Given the description of an element on the screen output the (x, y) to click on. 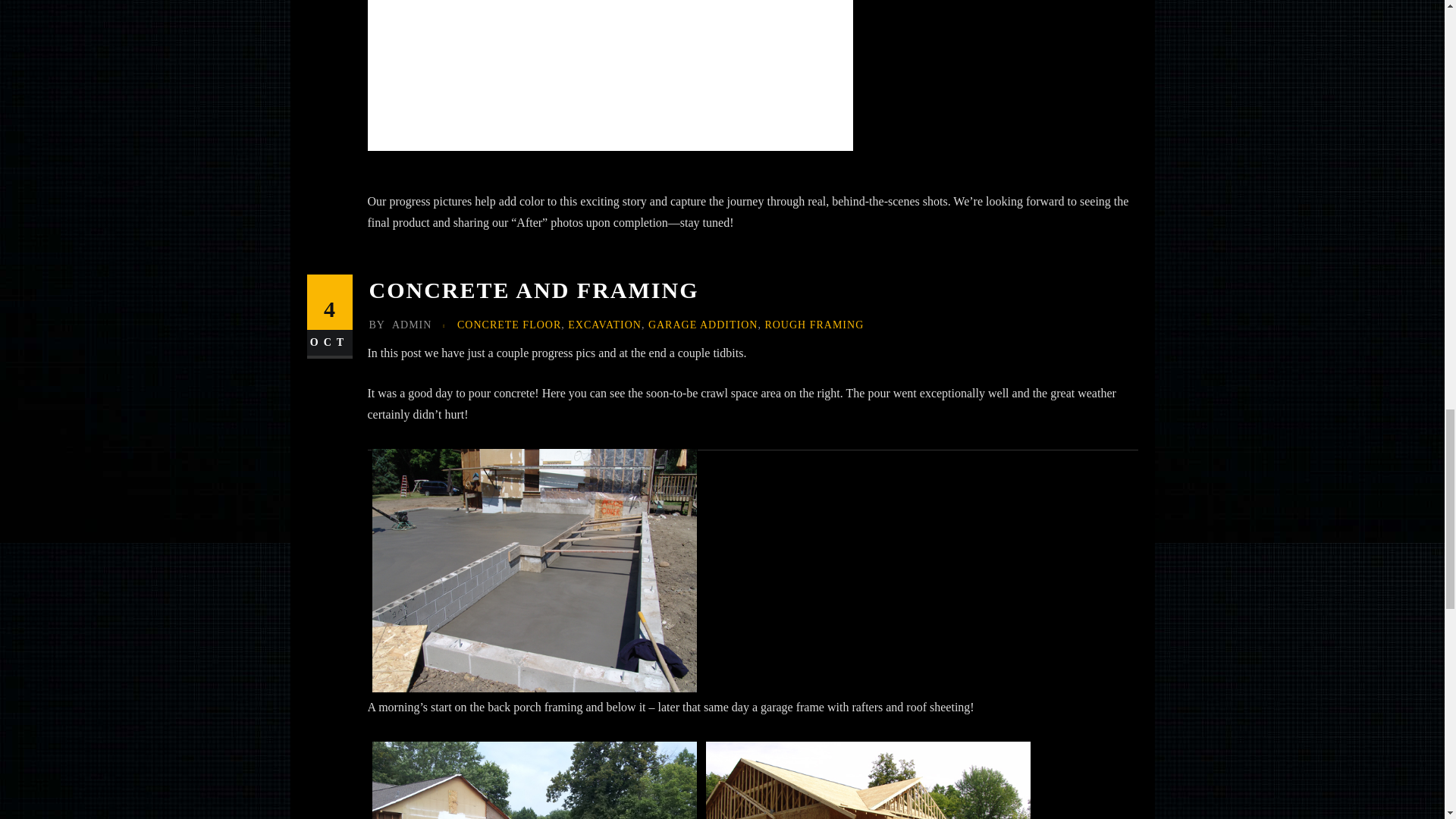
CONCRETE AND FRAMING (533, 289)
CONCRETE FLOOR (508, 325)
GARAGE ADDITION (702, 325)
BY ADMIN (399, 325)
29A520FD-173B-4BCE-A271-A8E4C8E3DA64 2 (608, 87)
ROUGH FRAMING (813, 325)
EXCAVATION (604, 325)
